Given the description of an element on the screen output the (x, y) to click on. 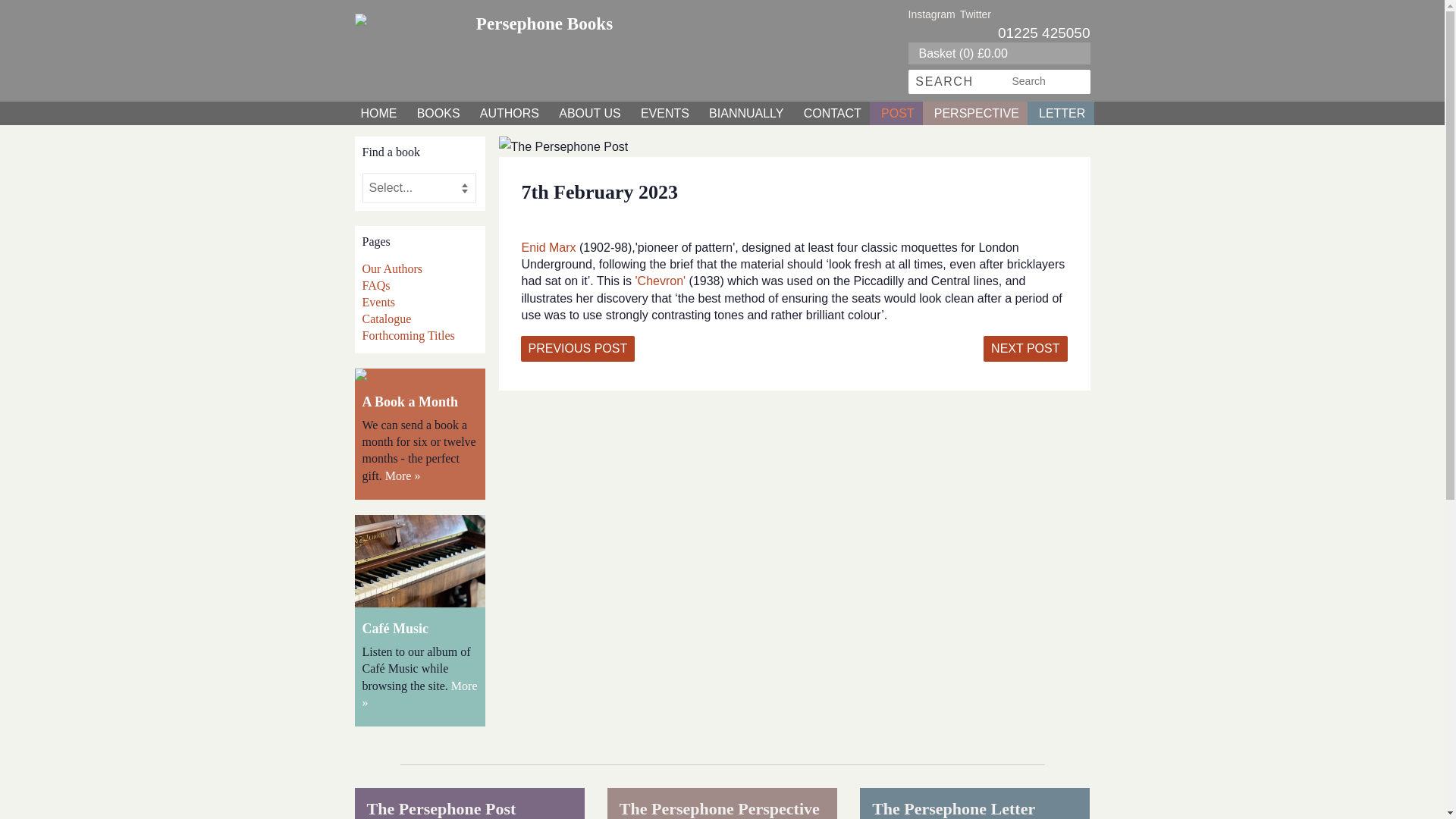
6th February 2023 (576, 348)
8th February 2023 (1025, 348)
Persephone Books on Twitter (975, 14)
Persephone Books on Instagram (931, 14)
Instagram (931, 14)
Enid Marx (550, 246)
Chevron (659, 280)
01225 425050 (1043, 33)
Twitter (975, 14)
SEARCH (944, 82)
